Given the description of an element on the screen output the (x, y) to click on. 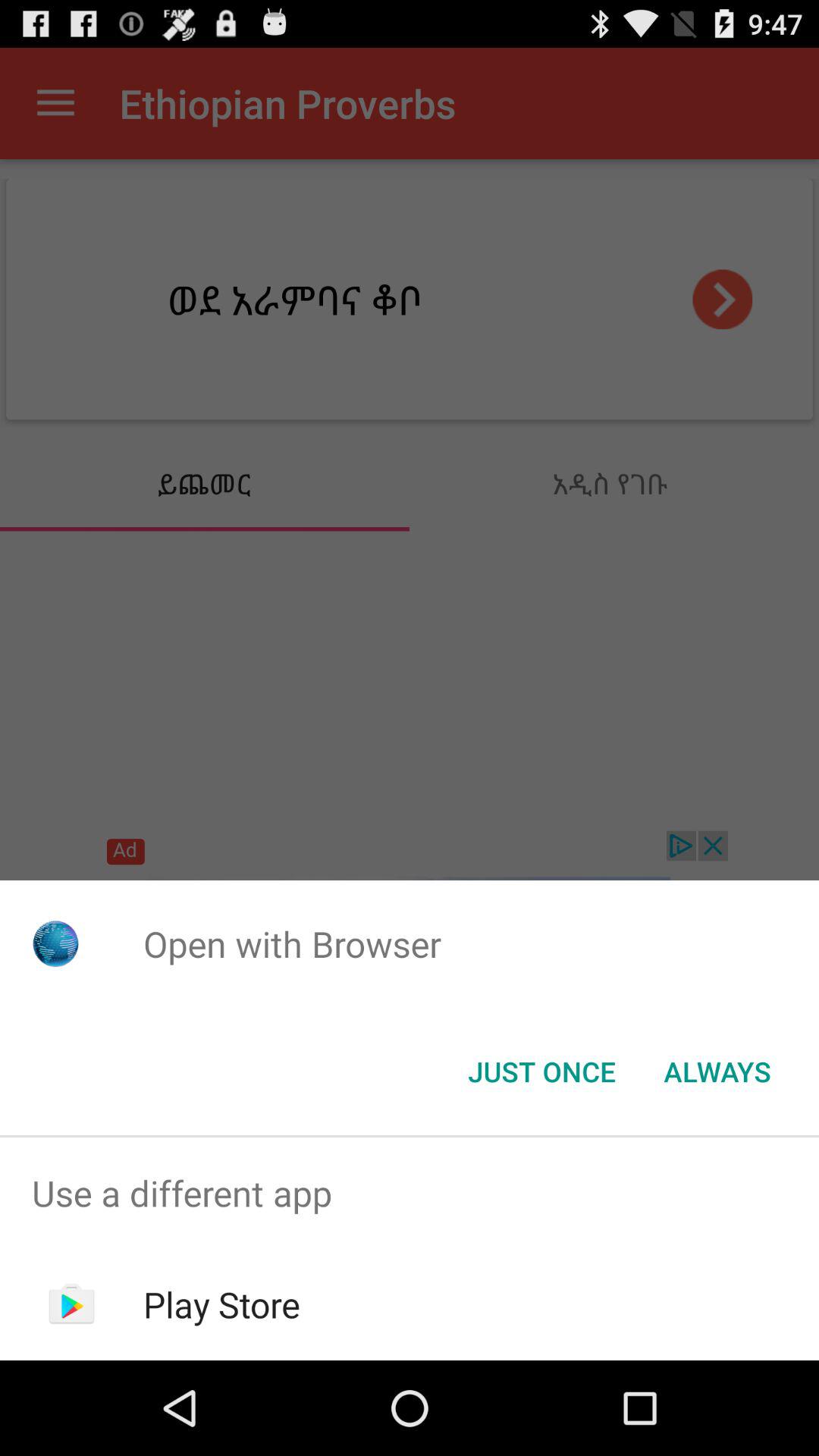
scroll until always item (717, 1071)
